Given the description of an element on the screen output the (x, y) to click on. 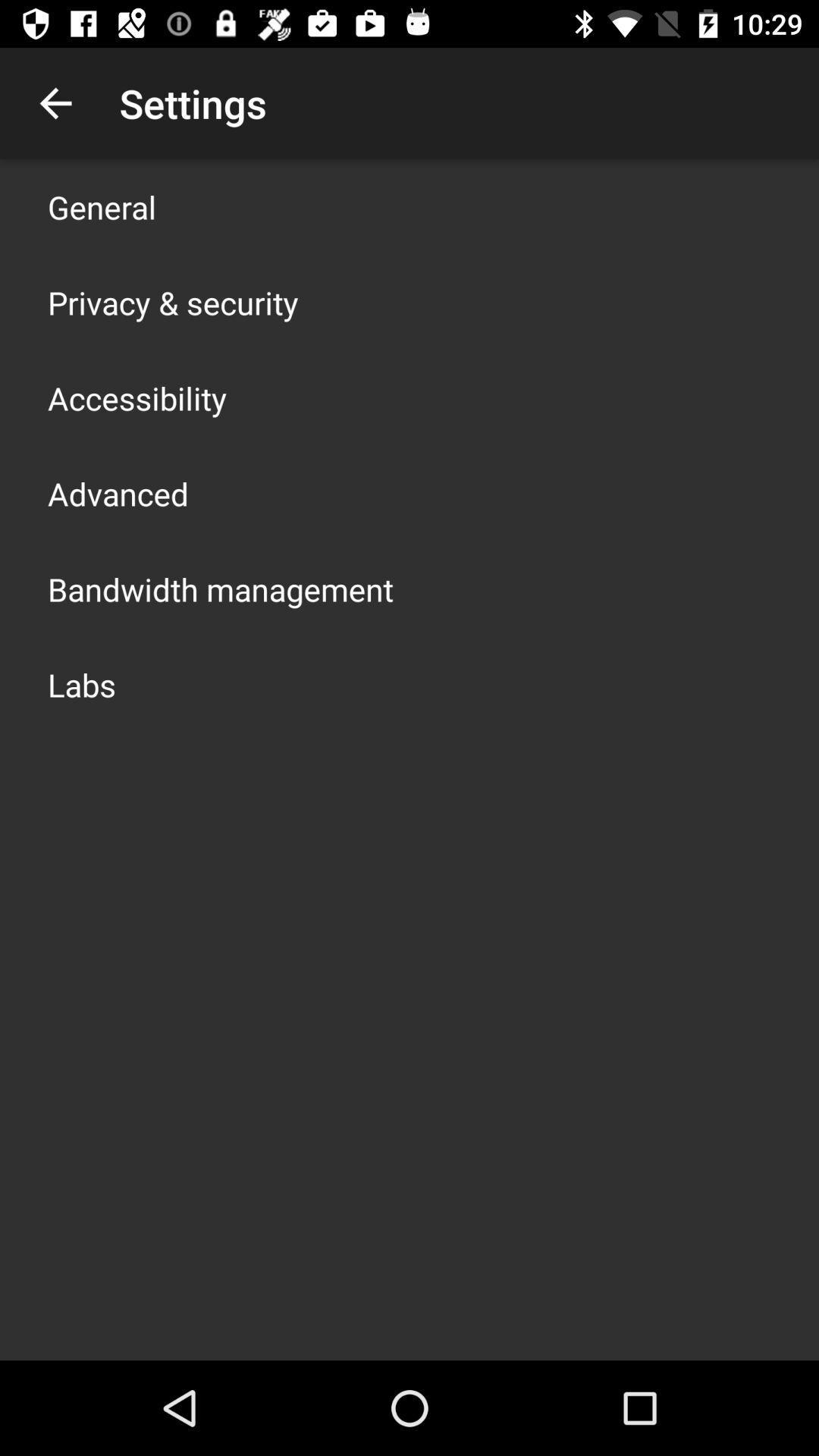
flip until the privacy & security app (172, 302)
